Given the description of an element on the screen output the (x, y) to click on. 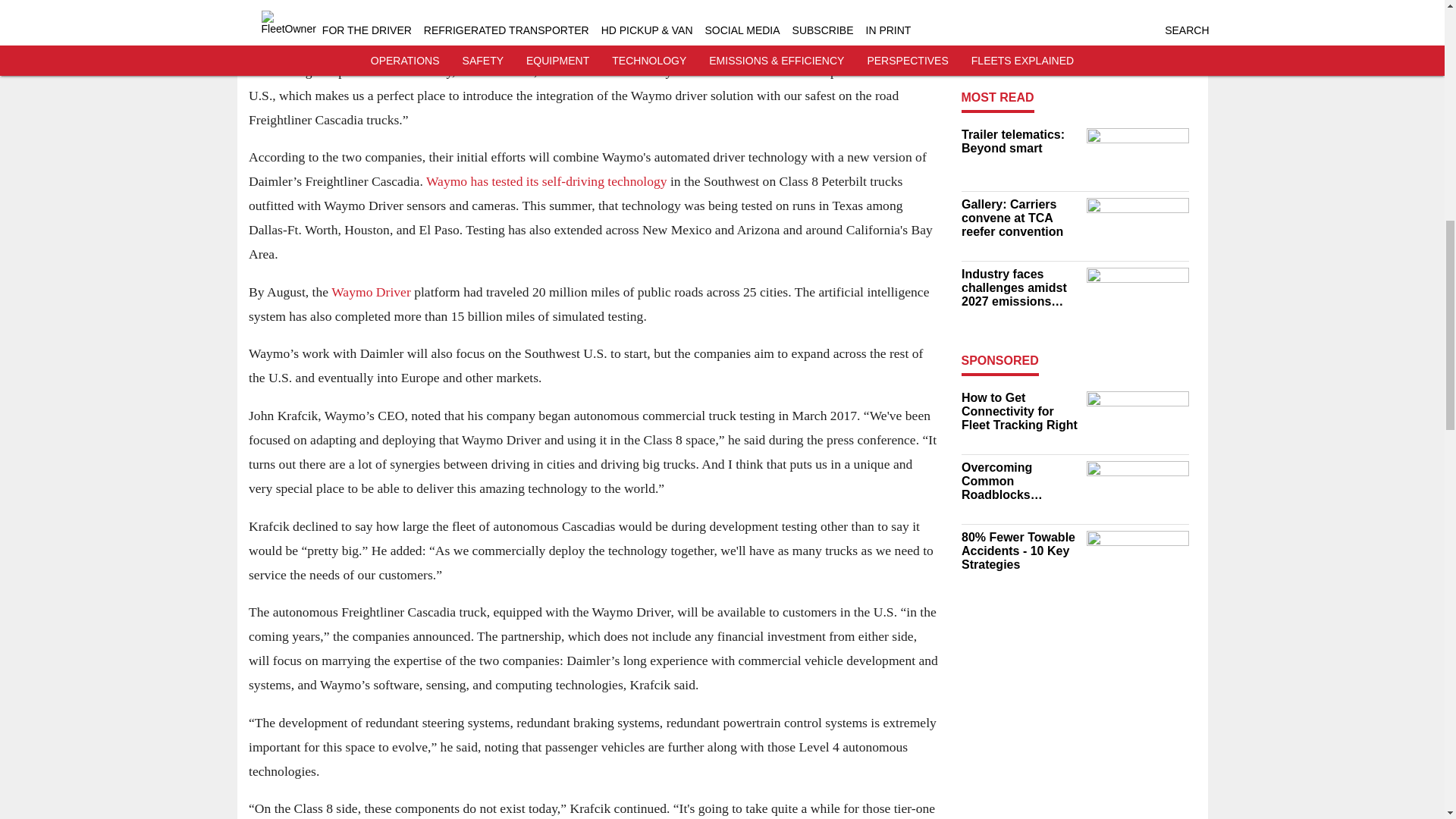
e-commerce growth (708, 2)
Waymo has tested its self-driving technology (545, 181)
Daimler Trucks North America (581, 34)
Waymo Driver (370, 291)
